Given the description of an element on the screen output the (x, y) to click on. 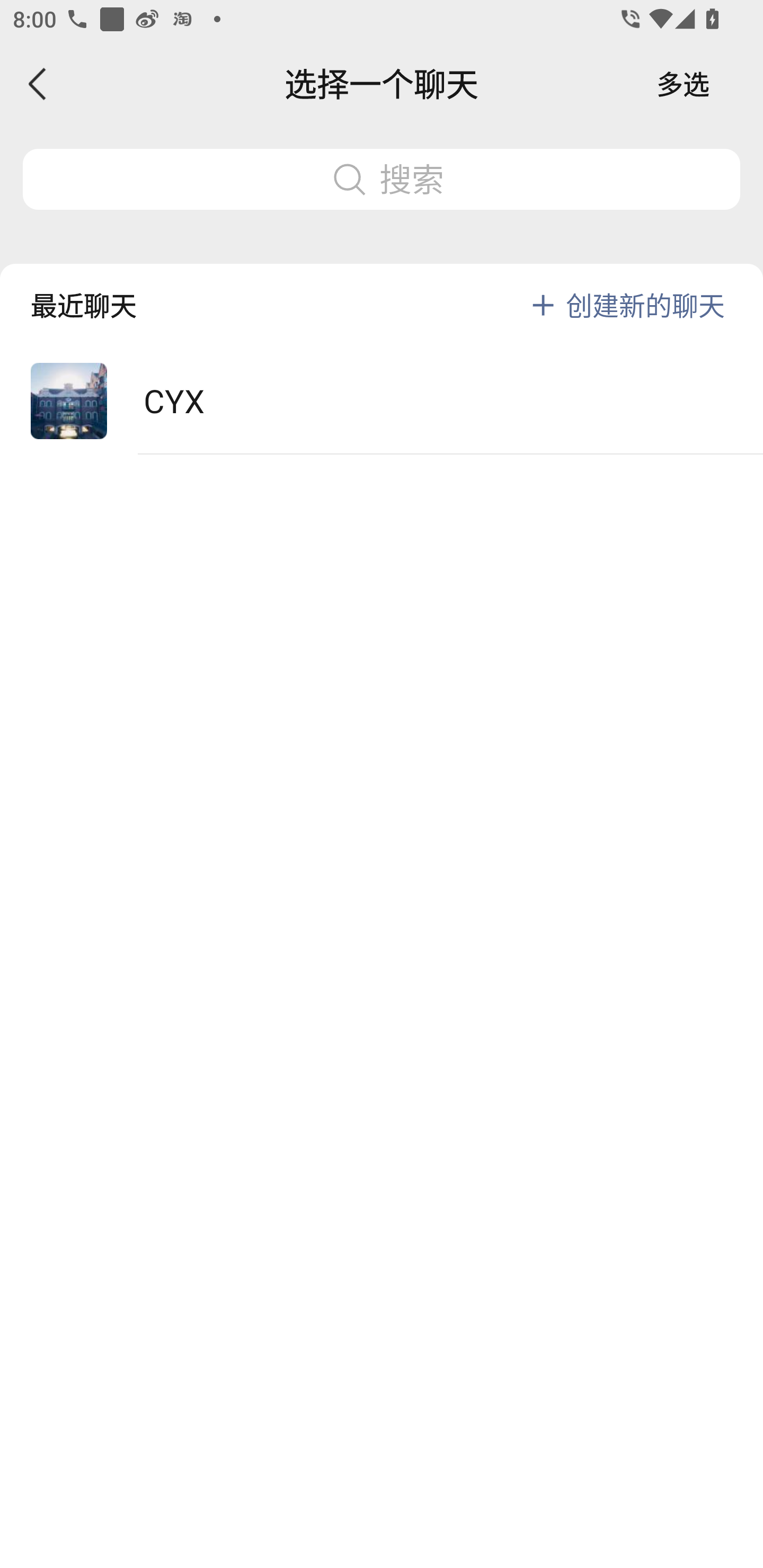
返回 (38, 83)
多选 (683, 83)
最近聊天 创建新的聊天 (381, 290)
创建新的聊天 (645, 304)
CYX (381, 401)
